Given the description of an element on the screen output the (x, y) to click on. 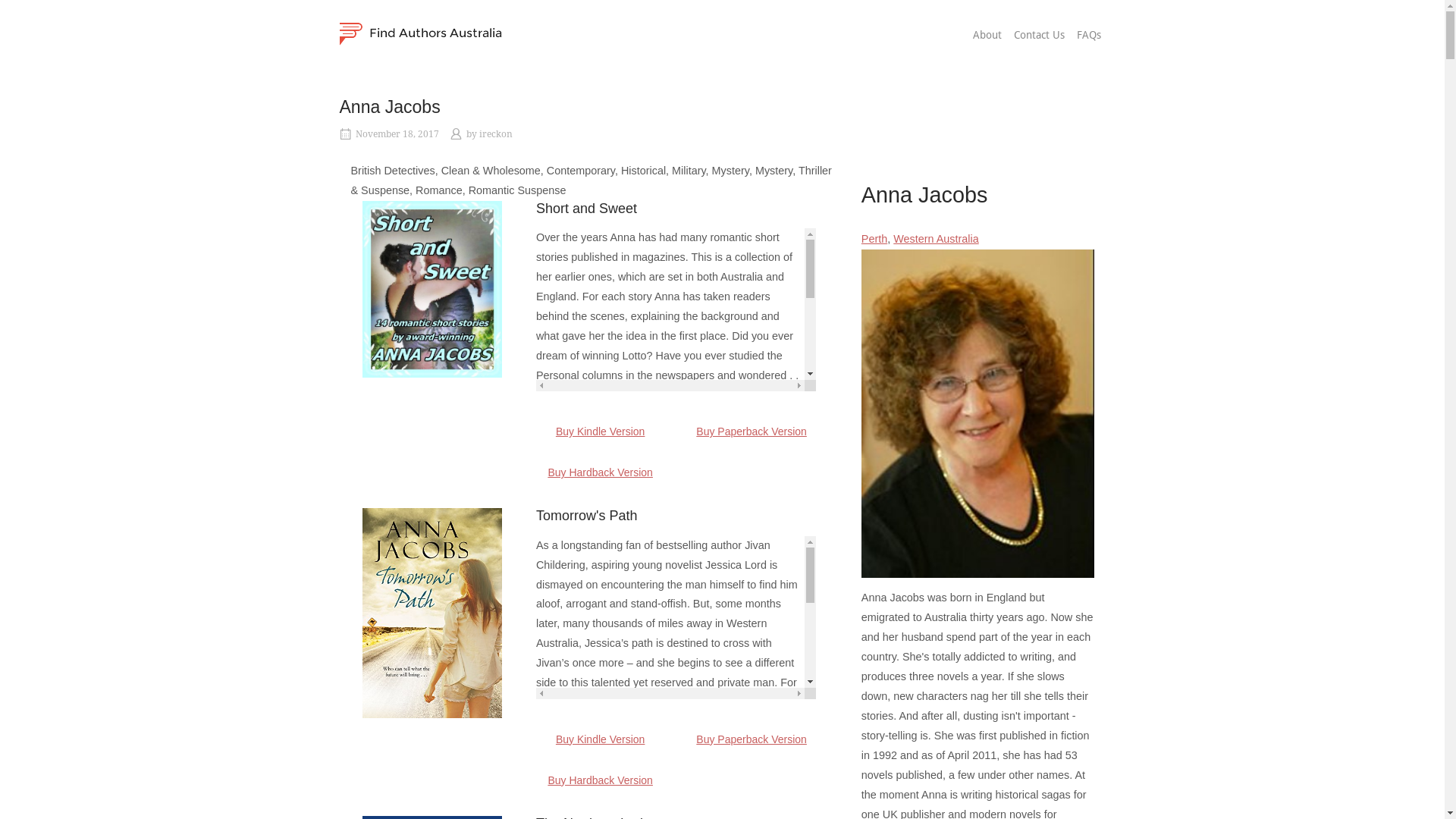
Buy Paperback Version Element type: text (751, 739)
FAQs Element type: text (1088, 35)
Buy Hardback Version Element type: text (599, 780)
ireckon Element type: text (495, 133)
Western Australia Element type: text (936, 238)
Buy Hardback Version Element type: text (599, 472)
Contact Us Element type: text (1038, 35)
About Element type: text (986, 35)
Buy Paperback Version Element type: text (751, 431)
Buy Kindle Version Element type: text (600, 431)
Home Element type: text (420, 33)
November 18, 2017 Element type: text (396, 133)
Perth Element type: text (874, 238)
Buy Kindle Version Element type: text (600, 739)
